Given the description of an element on the screen output the (x, y) to click on. 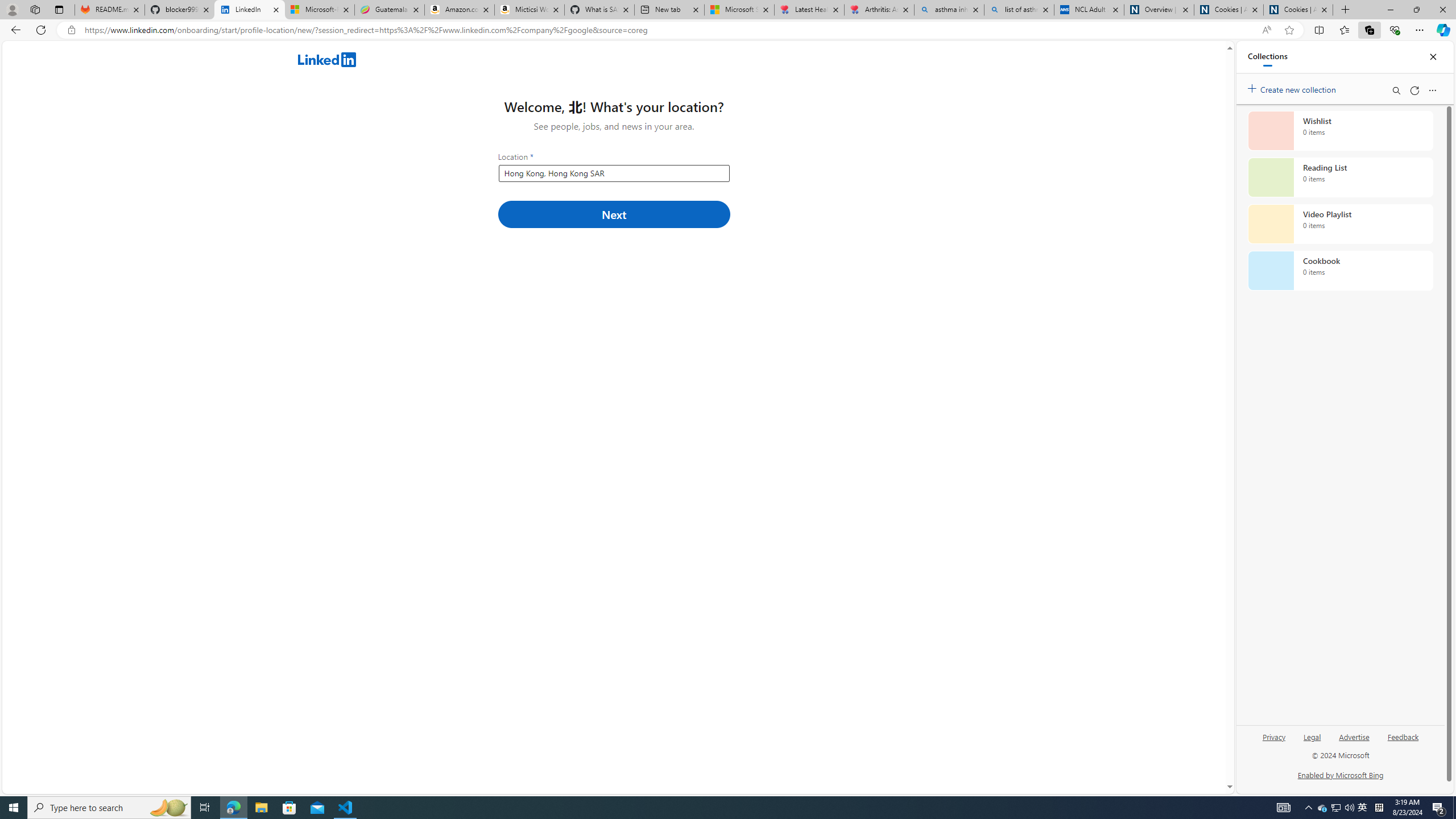
Reading List collection, 0 items (1339, 177)
Cookbook collection, 0 items (1339, 270)
Video Playlist collection, 0 items (1339, 223)
